Given the description of an element on the screen output the (x, y) to click on. 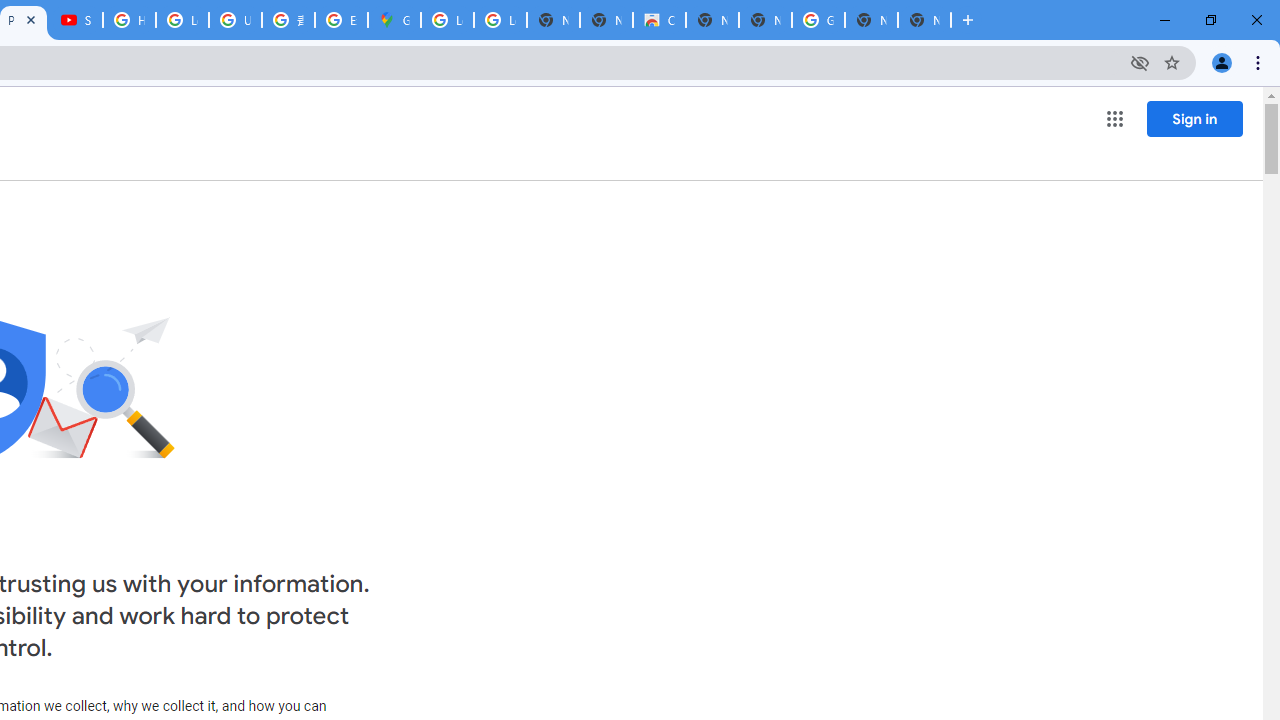
Google Maps (394, 20)
New Tab (924, 20)
Google Images (818, 20)
Subscriptions - YouTube (76, 20)
How Chrome protects your passwords - Google Chrome Help (129, 20)
Explore new street-level details - Google Maps Help (341, 20)
